Given the description of an element on the screen output the (x, y) to click on. 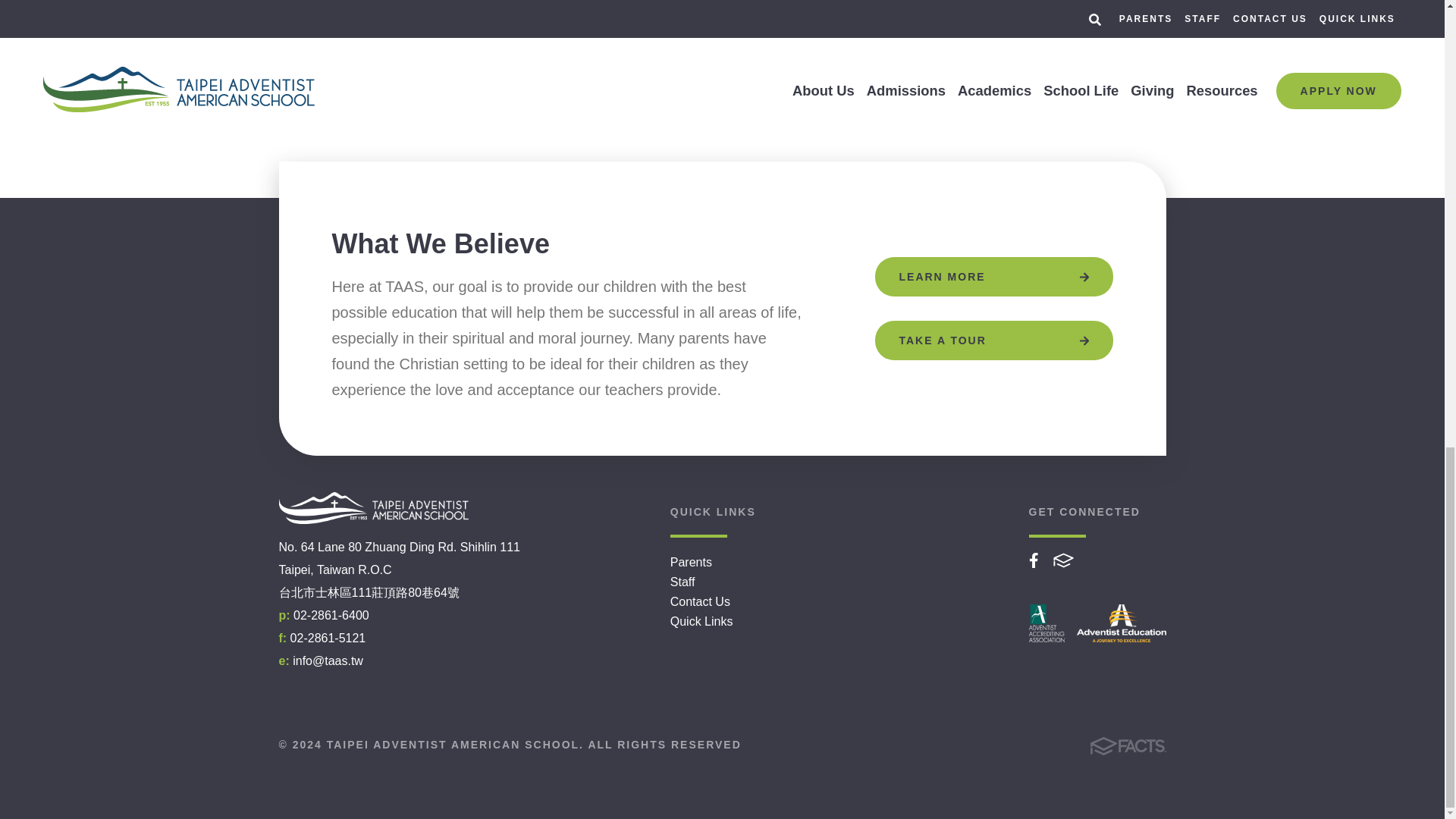
Taipei Adventist American School (373, 508)
